Given the description of an element on the screen output the (x, y) to click on. 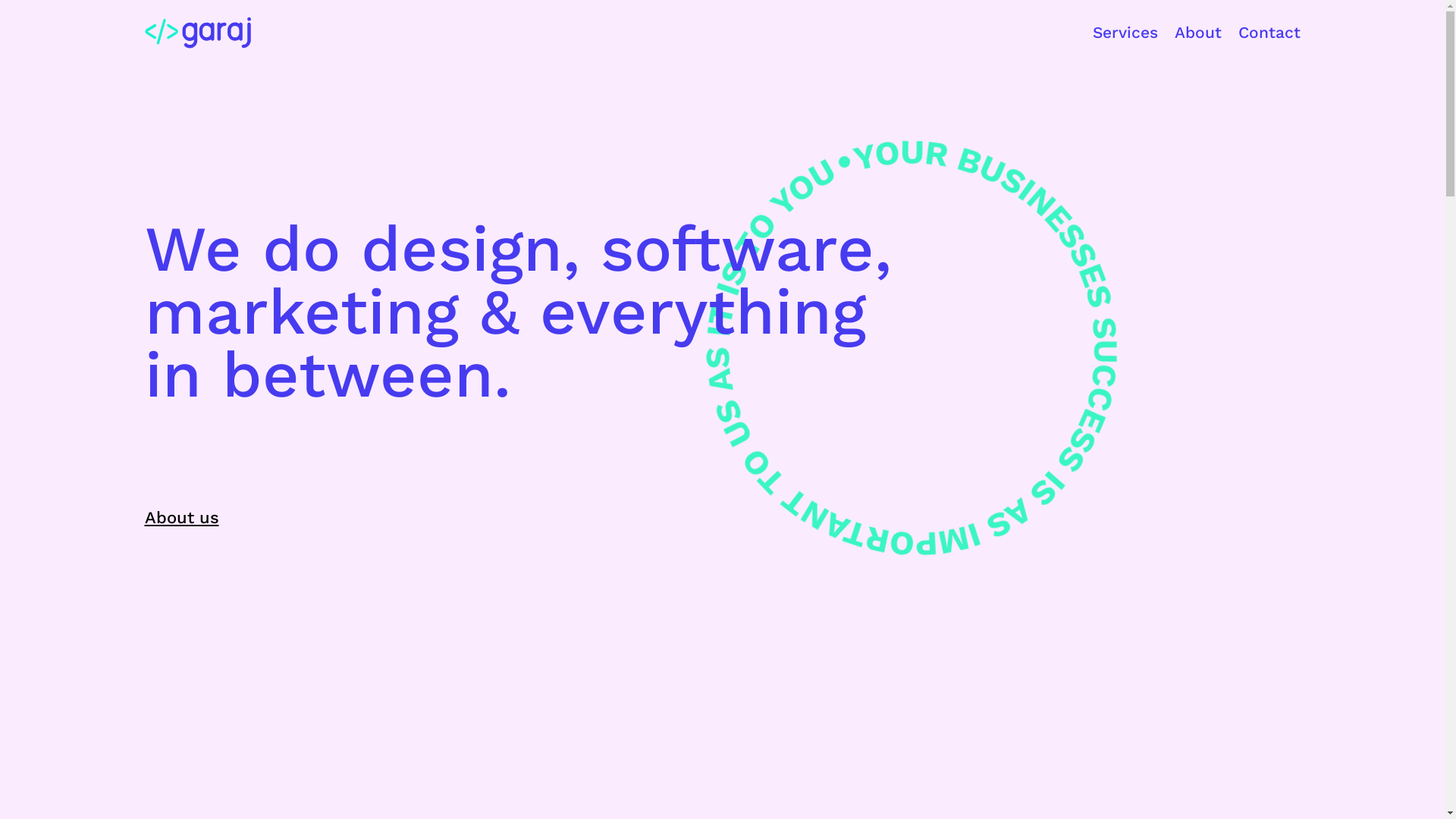
Contact Element type: text (1268, 32)
Your Business Success Is As Important To Us As It Is To You Element type: hover (873, 313)
About us Element type: text (181, 517)
About Element type: text (1196, 32)
Services Element type: text (1124, 32)
